Given the description of an element on the screen output the (x, y) to click on. 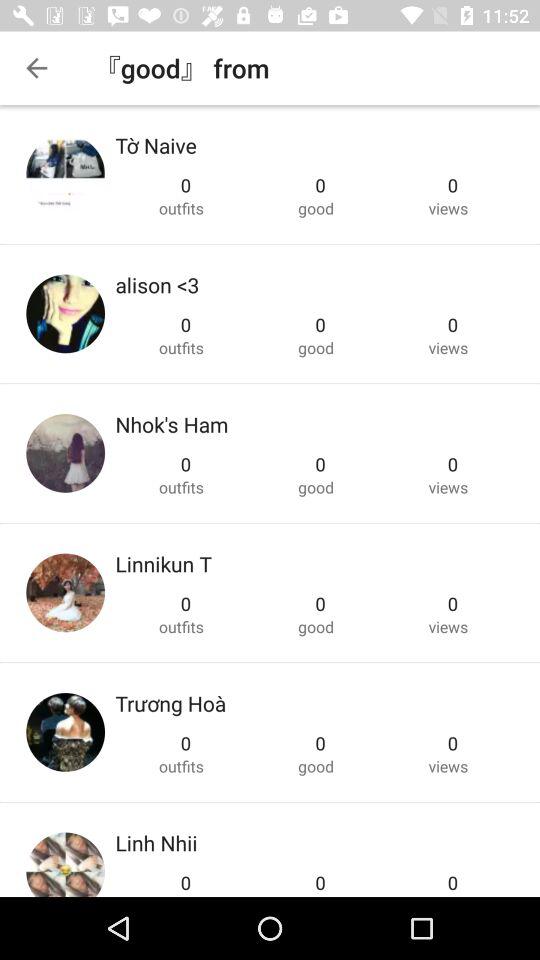
choose icon below outfits (157, 284)
